Given the description of an element on the screen output the (x, y) to click on. 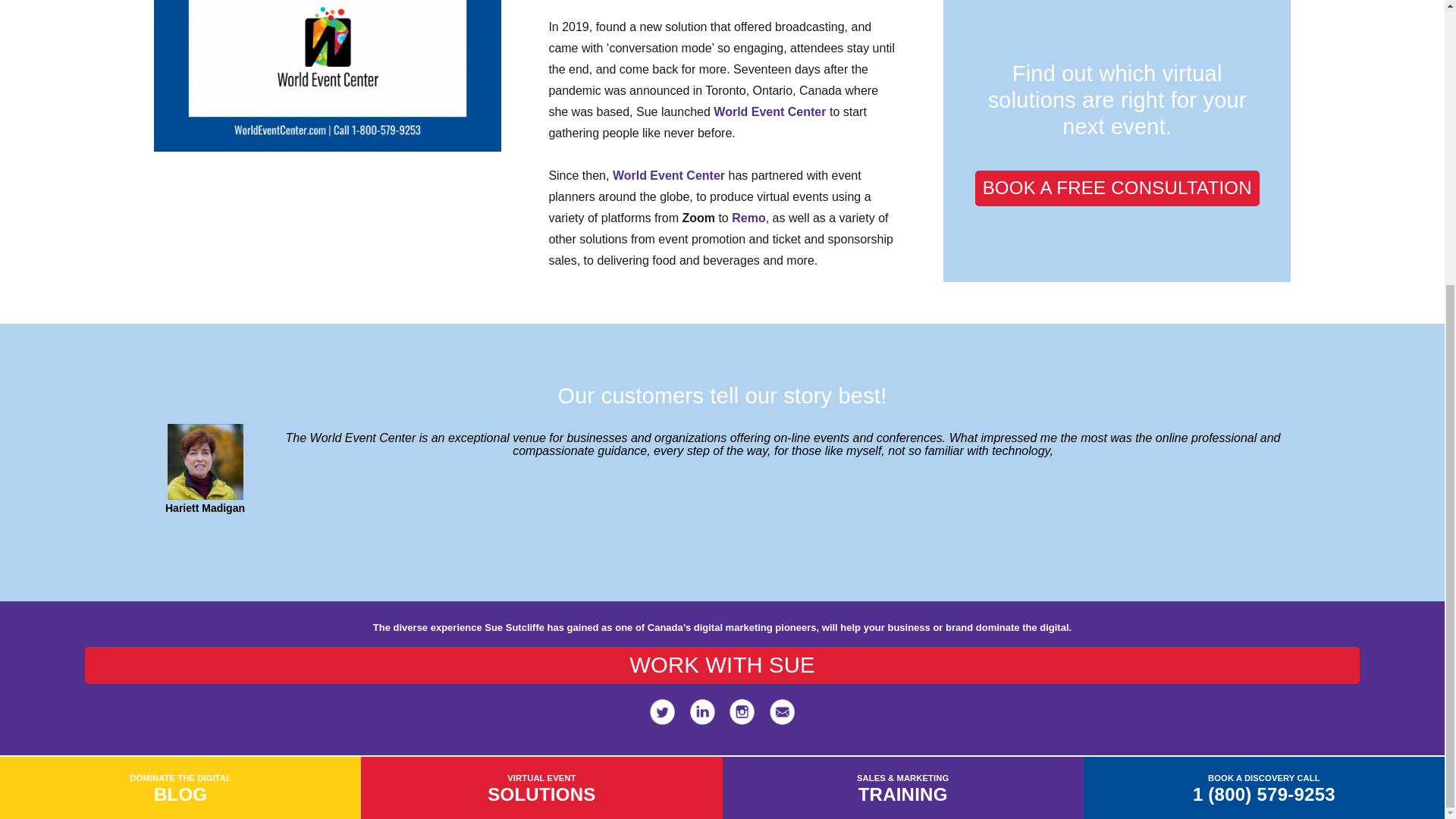
World Event Center (769, 111)
Remo (748, 217)
World Event Center (668, 174)
